Given the description of an element on the screen output the (x, y) to click on. 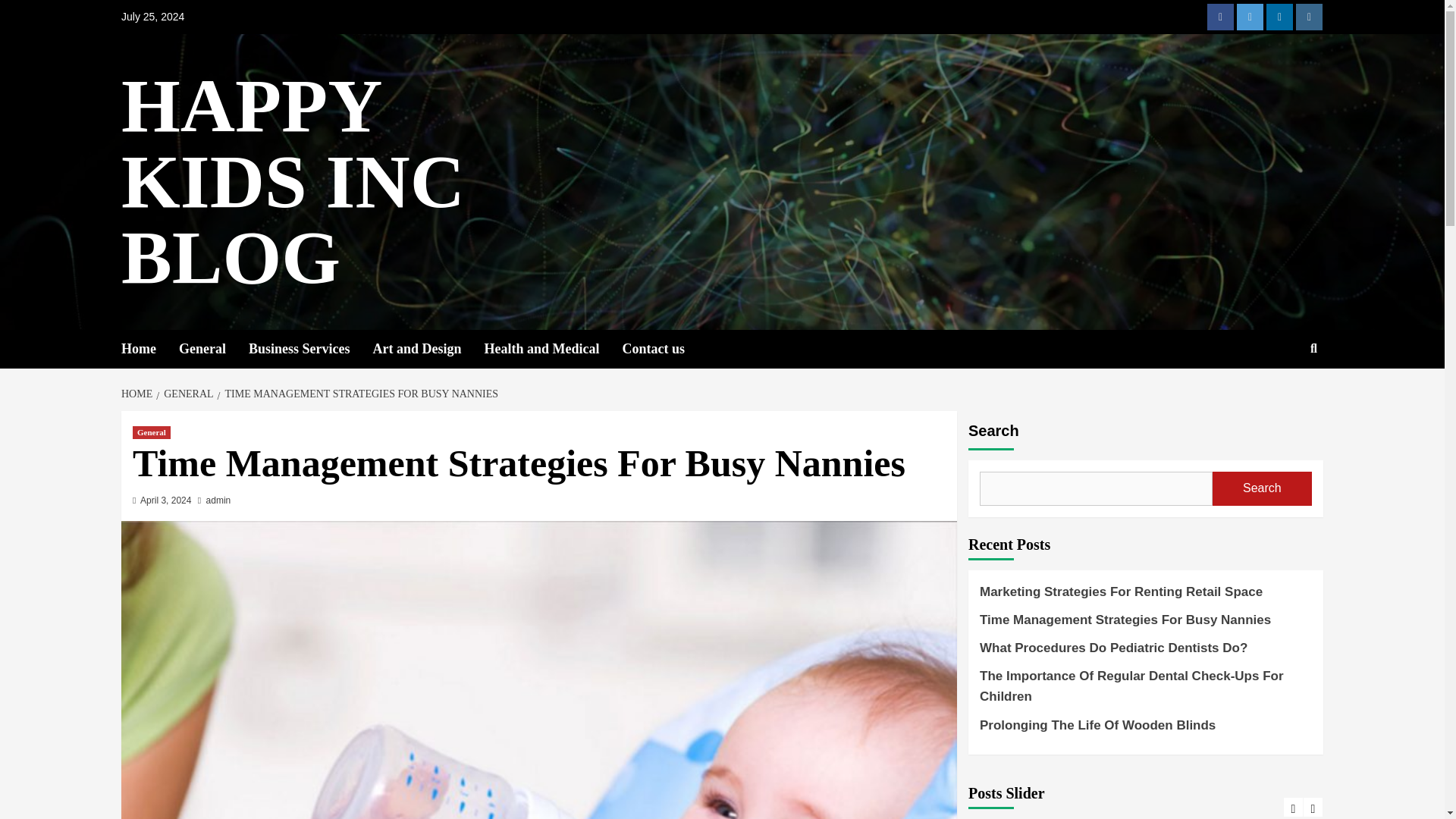
Health and Medical (552, 349)
instagram (1308, 17)
General (213, 349)
Search (1261, 488)
facebook (1220, 17)
Business Services (310, 349)
Art and Design (427, 349)
GENERAL (185, 393)
twitter (1249, 17)
HAPPY KIDS INC BLOG (292, 181)
Home (149, 349)
Contact us (664, 349)
Search (1278, 397)
admin (218, 500)
April 3, 2024 (164, 500)
